Given the description of an element on the screen output the (x, y) to click on. 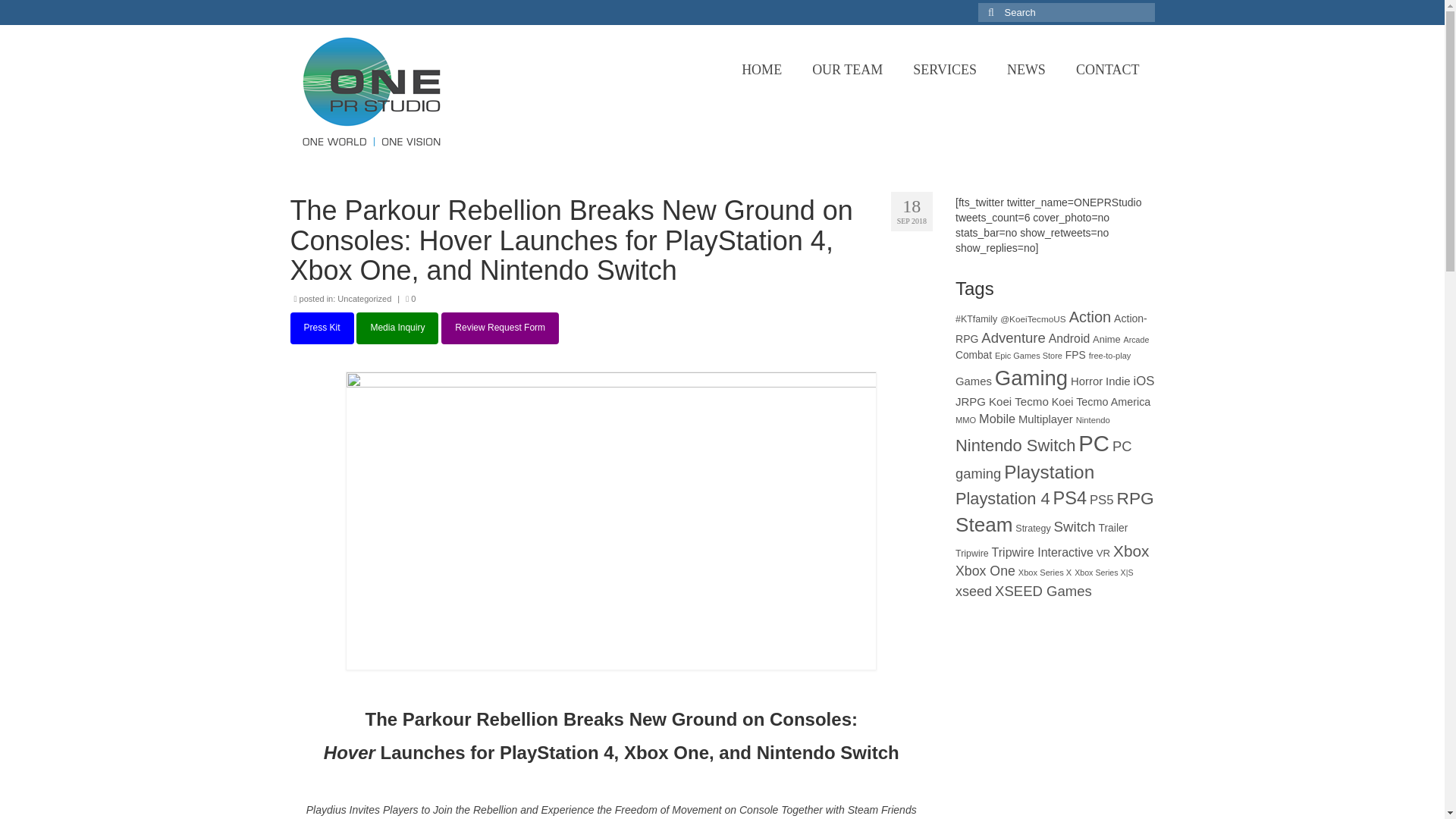
OUR TEAM (847, 69)
HOME (761, 69)
SERVICES (944, 69)
Review Request Form (500, 327)
Media Inquiry (397, 327)
NEWS (1026, 69)
Uncategorized (364, 298)
Press Kit (321, 327)
CONTACT (1107, 69)
